Given the description of an element on the screen output the (x, y) to click on. 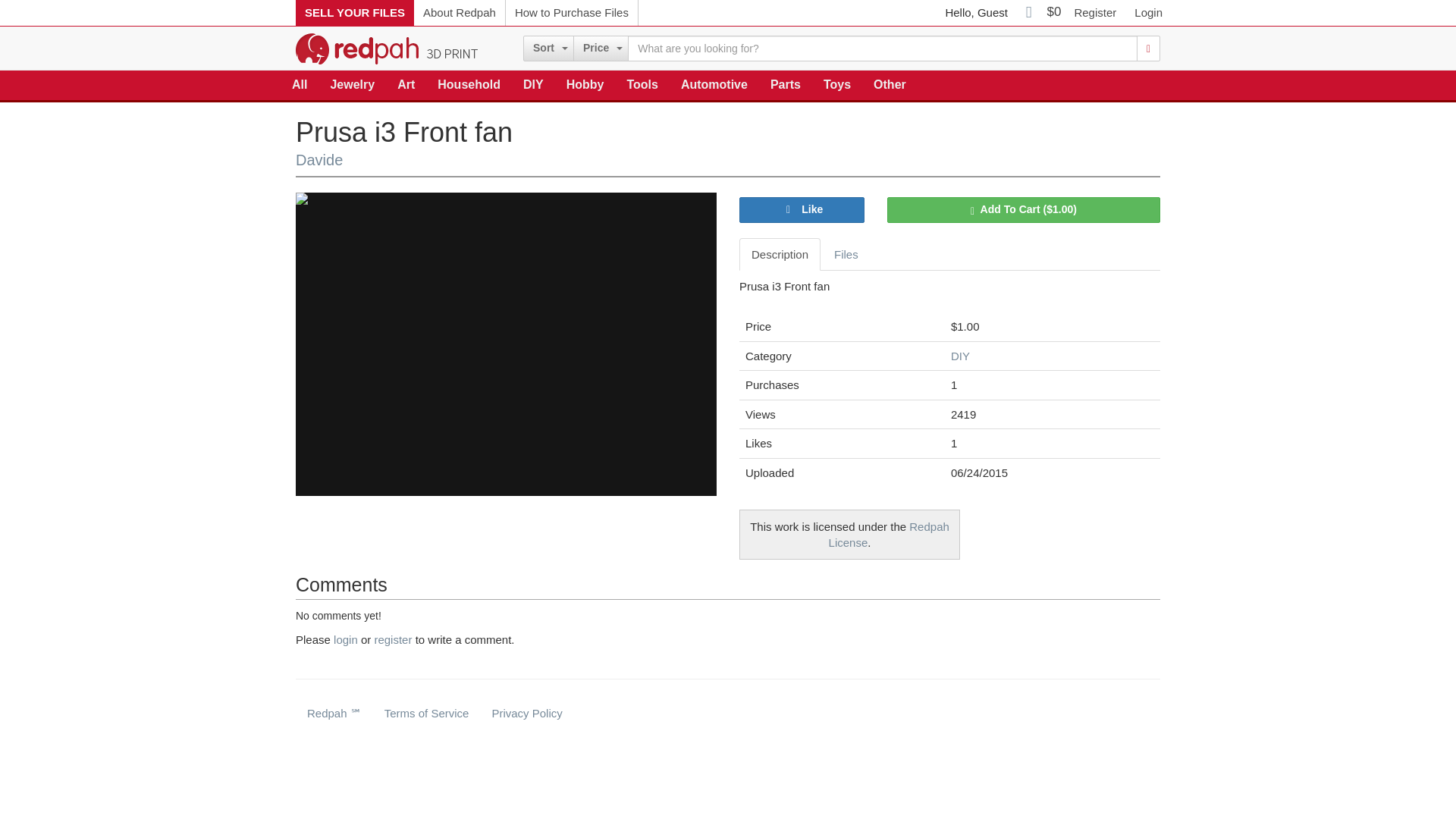
All (299, 85)
Jewelry (351, 85)
SELL YOUR FILES (354, 12)
Household (469, 85)
Toys (836, 85)
Art (405, 85)
How to Purchase Files (572, 12)
DIY (533, 85)
Login (1148, 12)
Hobby (584, 85)
